Given the description of an element on the screen output the (x, y) to click on. 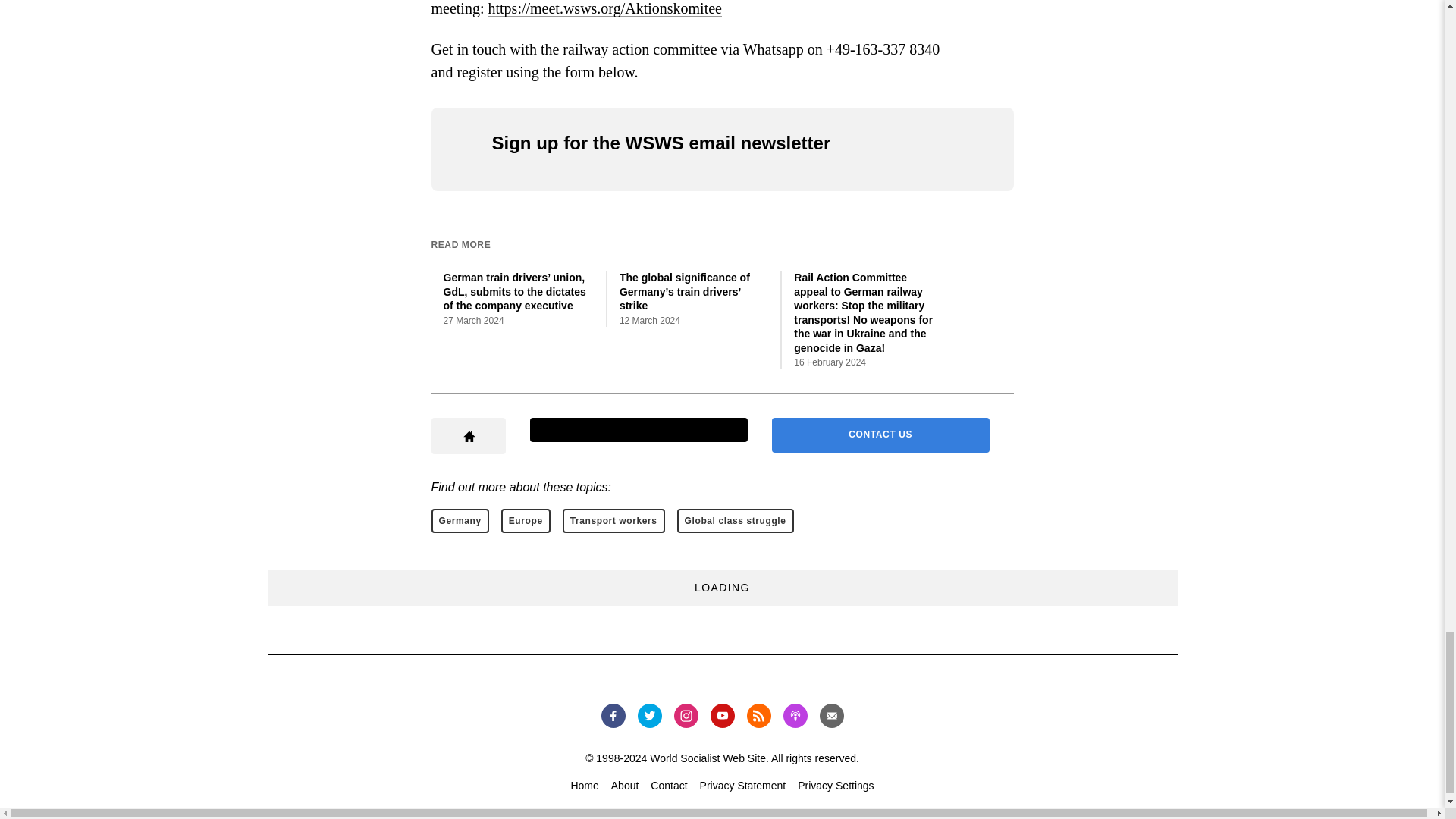
Home (584, 785)
Contact (669, 785)
About (625, 785)
Privacy Settings (835, 785)
Privacy Statement (743, 785)
